Given the description of an element on the screen output the (x, y) to click on. 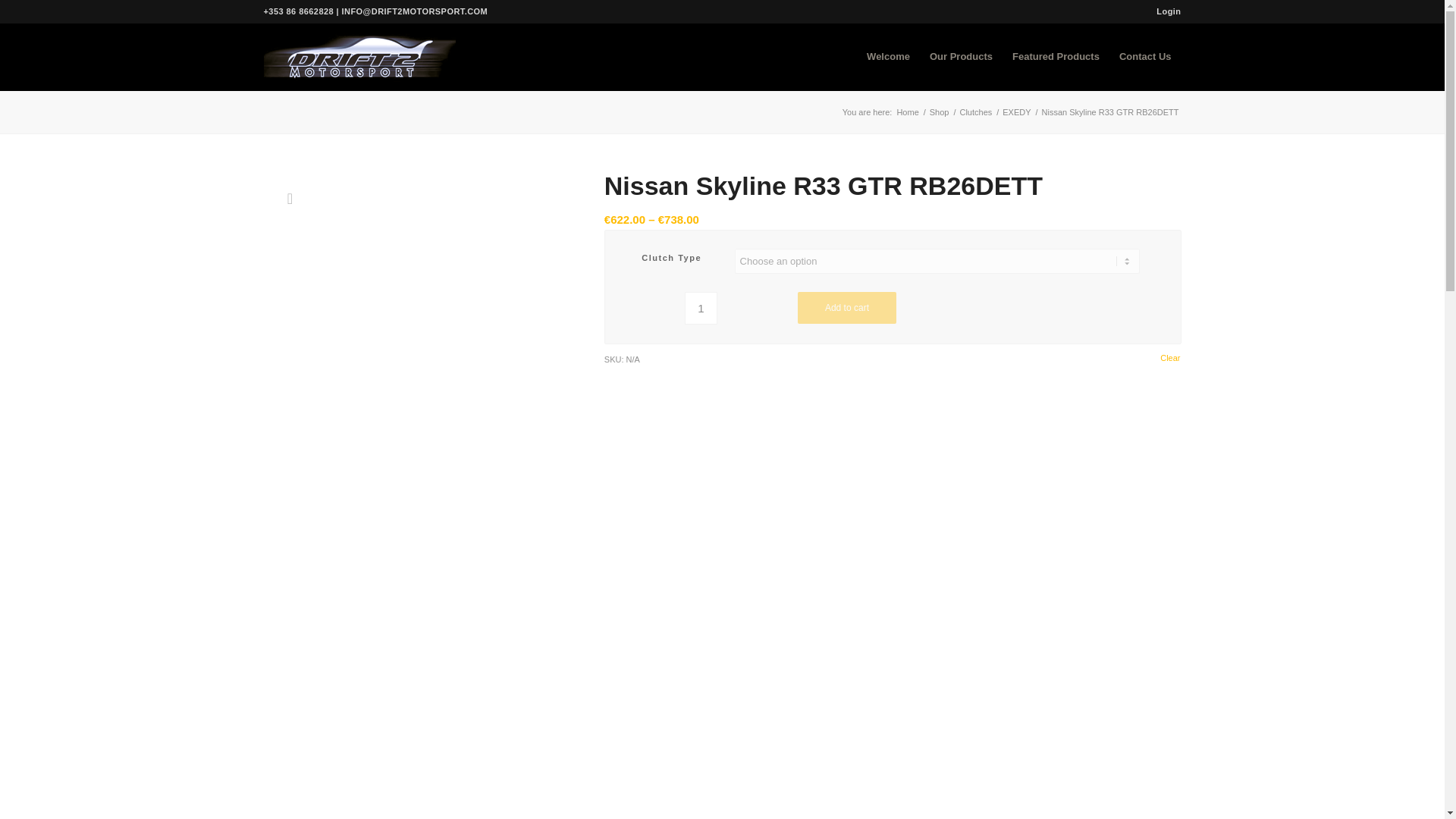
Welcome (888, 56)
Clear (1169, 357)
d2mlogo (360, 56)
Clutches (975, 112)
Drift2Motorsport (906, 112)
Our Products (961, 56)
Contact Us (1144, 56)
Featured Products (1056, 56)
Add to cart (846, 307)
1 (700, 307)
EXEDY (1016, 112)
EXEDY (1016, 112)
Shop (939, 112)
Shop (939, 112)
Home (906, 112)
